Given the description of an element on the screen output the (x, y) to click on. 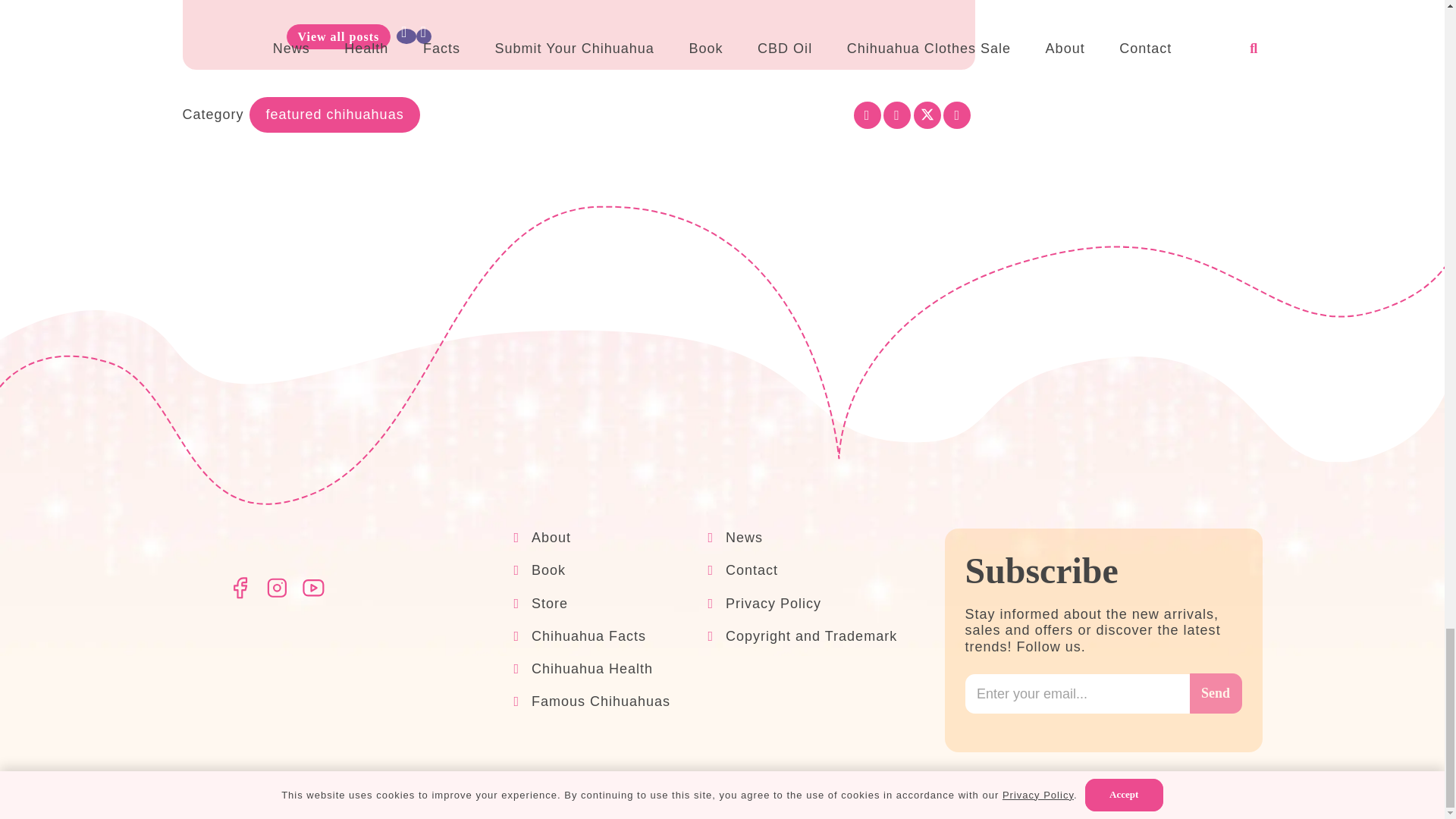
Send (1215, 693)
View all posts (338, 36)
featured chihuahuas (334, 114)
View all posts (338, 36)
